Given the description of an element on the screen output the (x, y) to click on. 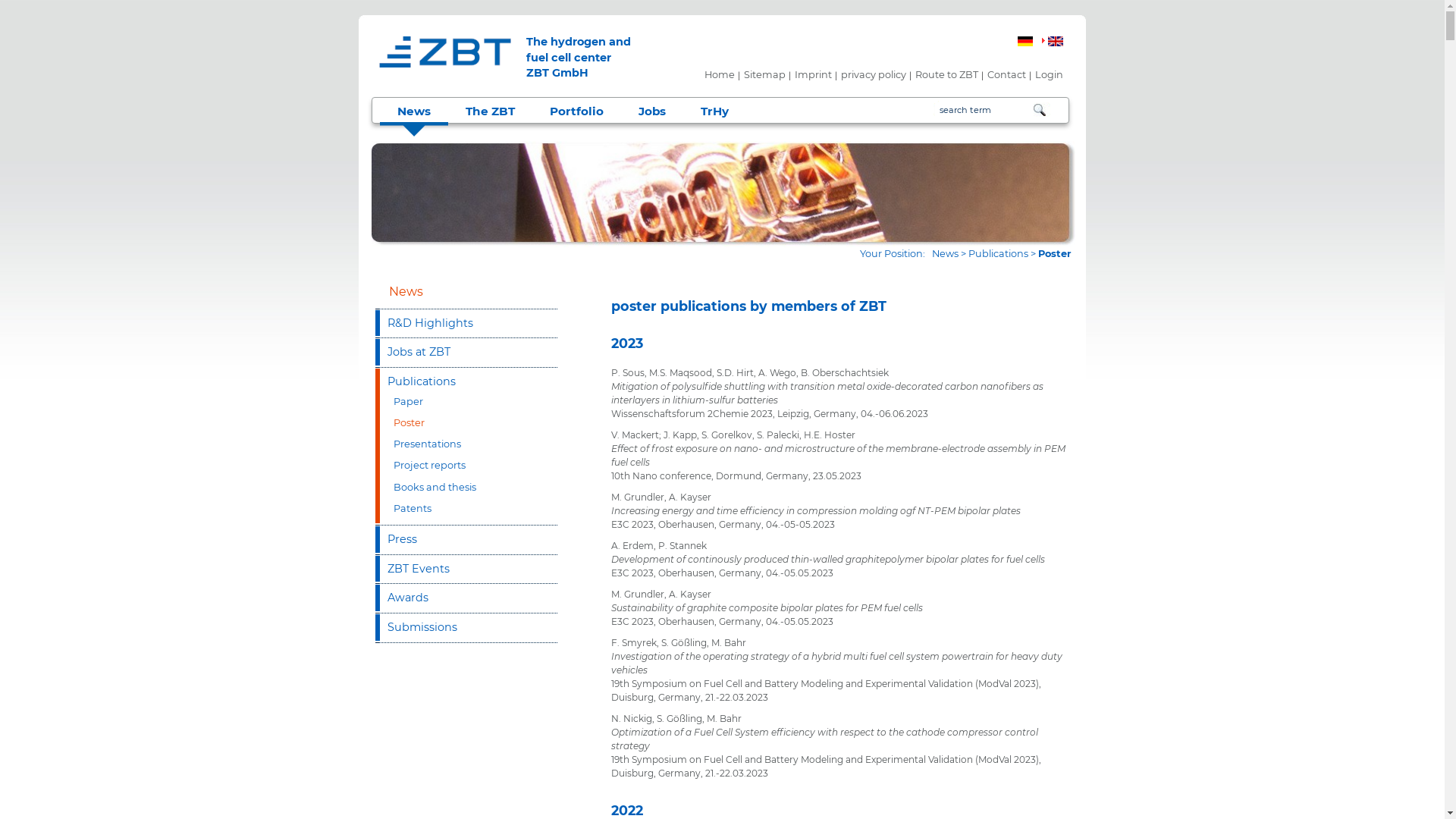
The ZBT Element type: text (490, 111)
Jobs at ZBT Element type: text (460, 351)
News Element type: text (399, 291)
Submissions Element type: text (460, 627)
Paper Element type: text (463, 405)
Project reports Element type: text (463, 469)
Publications Element type: text (998, 253)
Press Element type: text (460, 539)
News Element type: text (944, 253)
German Element type: hover (1024, 41)
Presentations Element type: text (463, 447)
Login Element type: text (1049, 74)
Home Element type: text (719, 74)
Route to ZBT Element type: text (946, 74)
Portfolio Element type: text (576, 111)
Imprint Element type: text (812, 74)
Please insert your searchword Element type: hover (984, 109)
ZBT Events Element type: text (460, 568)
English Element type: hover (1055, 41)
Books and thesis Element type: text (463, 491)
Jobs Element type: text (652, 111)
News Element type: text (413, 111)
Sitemap Element type: text (764, 74)
Publications Element type: text (463, 381)
R&D Highlights Element type: text (460, 323)
Awards Element type: text (460, 597)
TrHy Element type: text (714, 111)
Searching Element type: hover (1041, 109)
Contact Element type: text (1006, 74)
privacy policy Element type: text (873, 74)
Patents Element type: text (463, 512)
